Given the description of an element on the screen output the (x, y) to click on. 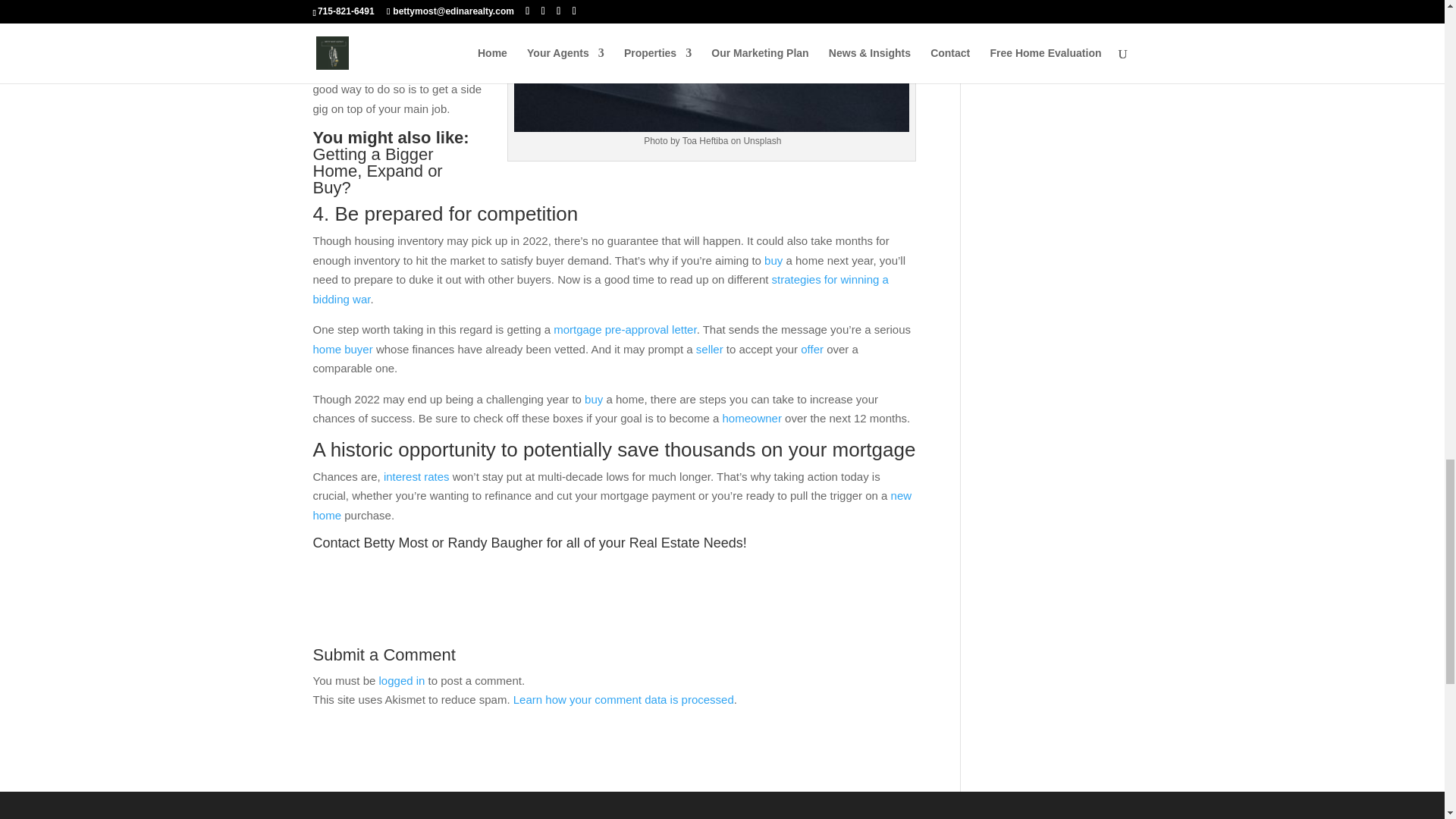
Home Buyer Tips, Real Estate, Homes (710, 65)
